Given the description of an element on the screen output the (x, y) to click on. 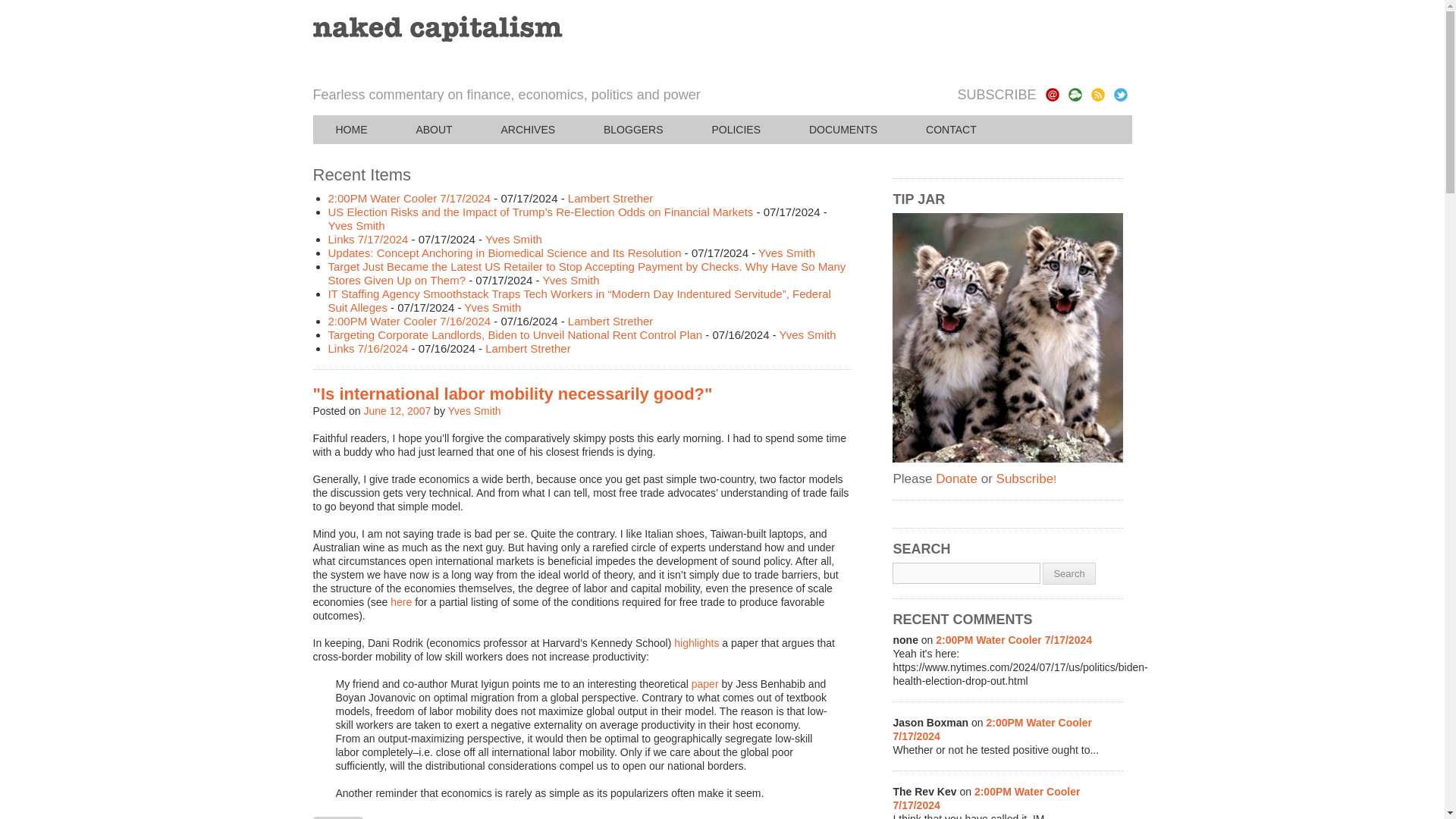
DOCUMENTS (842, 129)
Subscribe to comments via RSS feed (1074, 94)
Follow yvessmith on Twitter (1119, 94)
RSS Feed for Comments (1074, 94)
Lambert Strether (610, 320)
Yves Smith (512, 238)
Feedburner RSS Feed (1096, 94)
Yves Smith (474, 410)
Yves Smith (569, 279)
BLOGGERS (632, 129)
CONTACT (950, 129)
Search (1068, 573)
Follow yvessmith on Twitter (1119, 94)
